Given the description of an element on the screen output the (x, y) to click on. 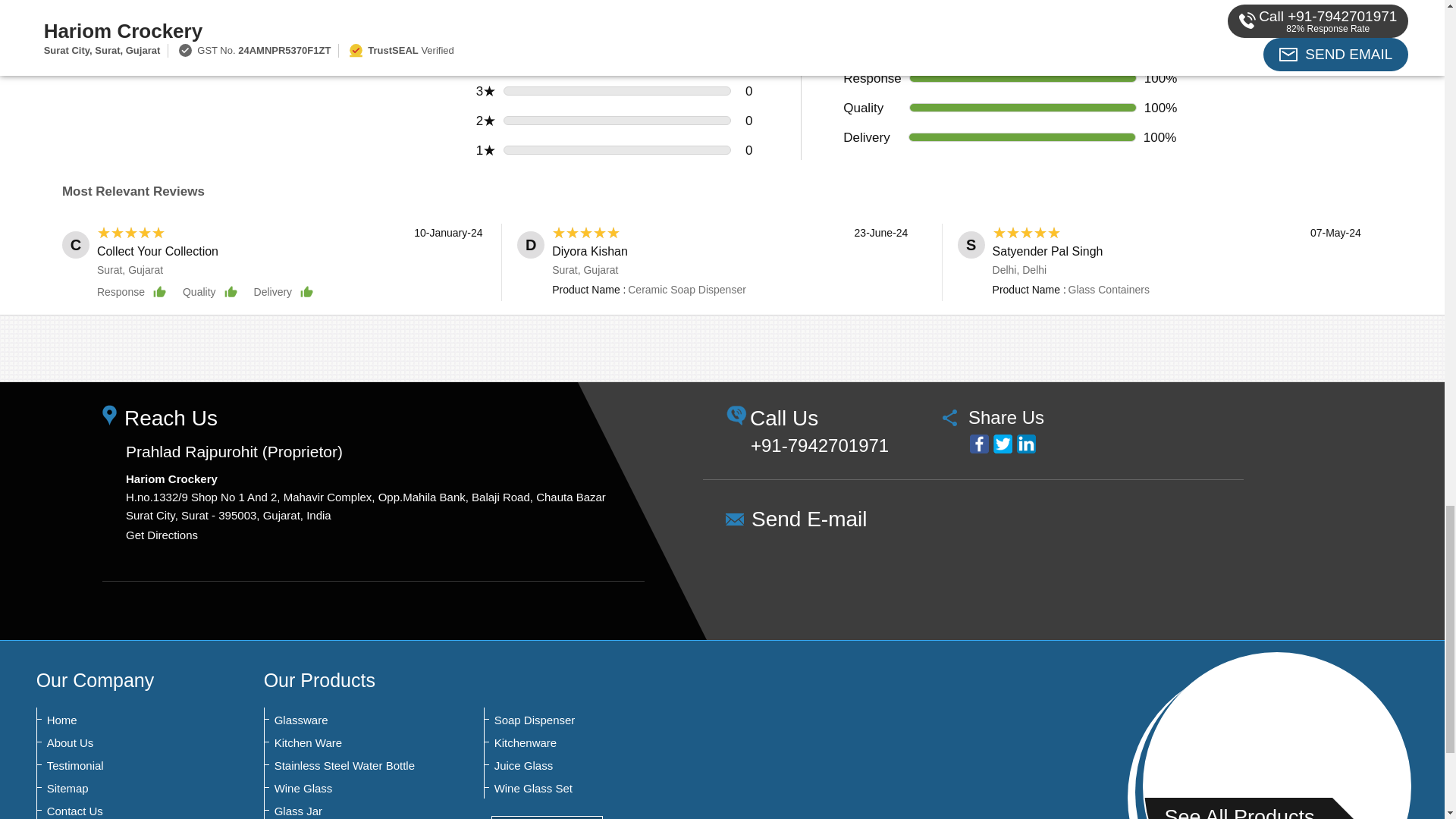
Twitter (1001, 443)
Testimonial (121, 765)
Home (121, 720)
LinkedIn (1025, 443)
Get Directions (161, 534)
Facebook (978, 443)
About Us (121, 743)
